Given the description of an element on the screen output the (x, y) to click on. 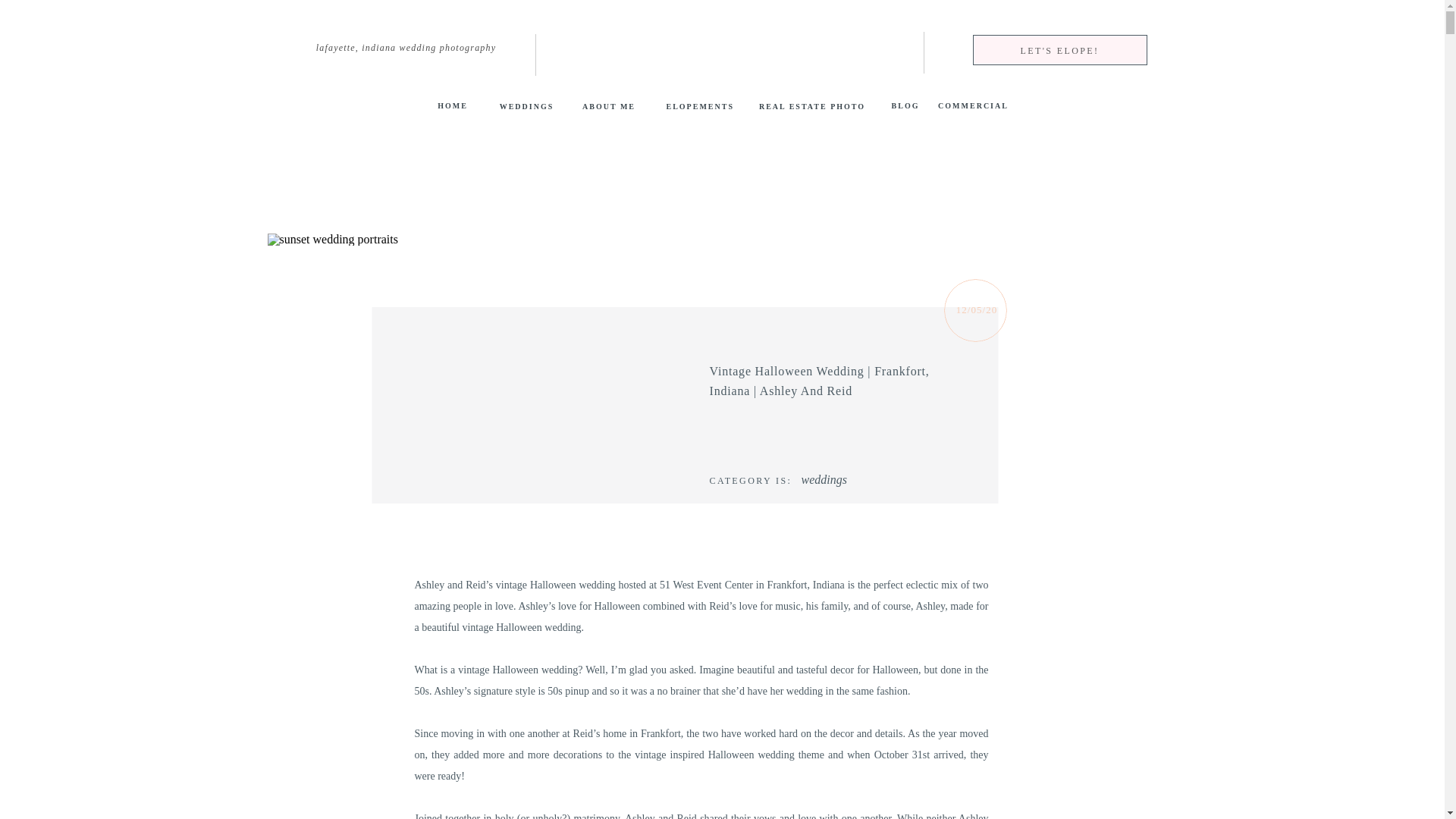
BLOG (905, 105)
COMMERCIAL (973, 105)
ELOPEMENTS (699, 109)
weddings (822, 479)
ABOUT ME (609, 109)
LET'S ELOPE! (1059, 49)
WEDDINGS (526, 109)
HOME (451, 108)
REAL ESTATE PHOTO (812, 109)
